Given the description of an element on the screen output the (x, y) to click on. 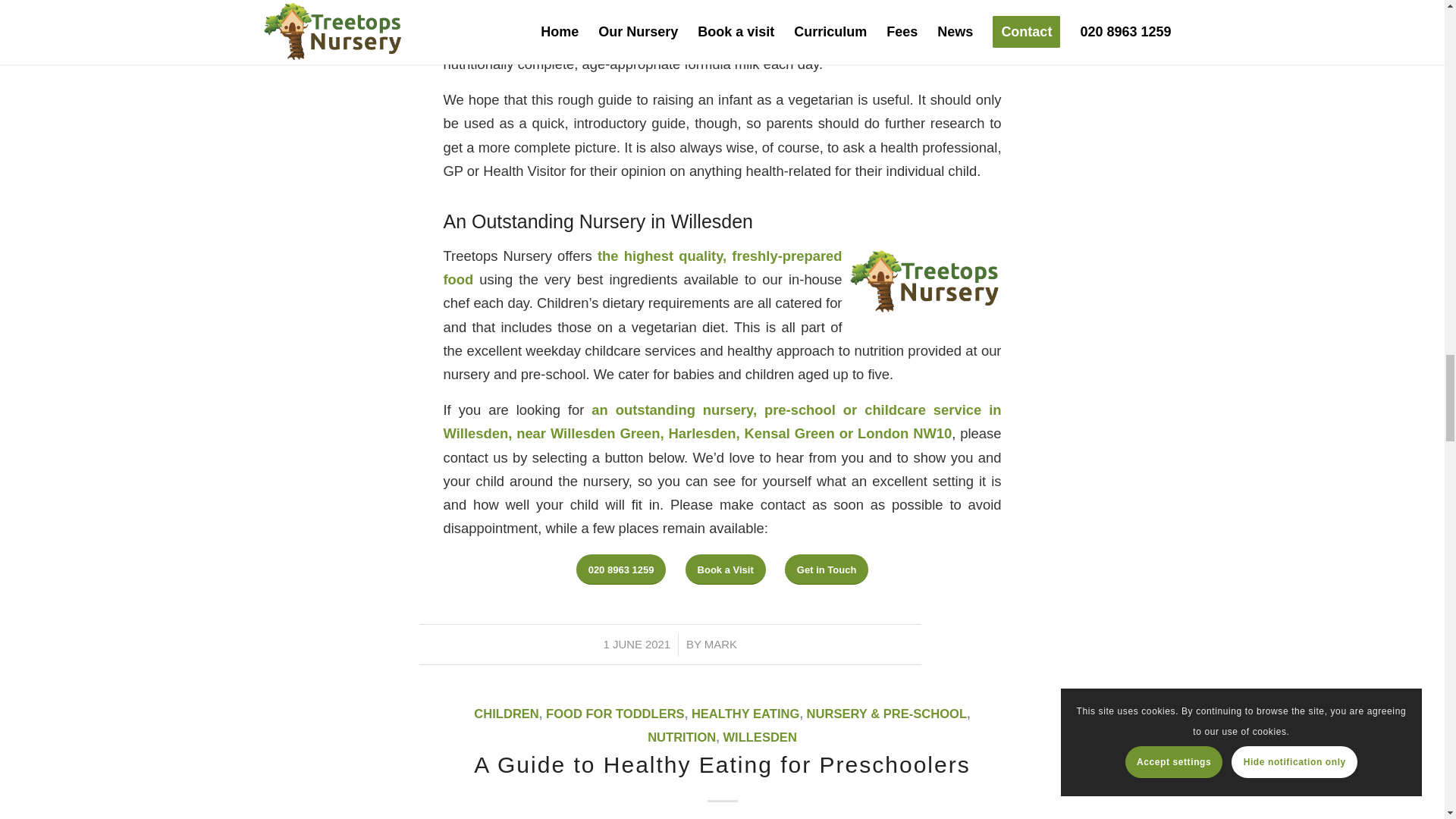
WILLESDEN (759, 737)
HEALTHY EATING (745, 713)
NUTRITION (681, 737)
FOOD FOR TODDLERS (615, 713)
020 8963 1259 (621, 569)
A Guide to Healthy Eating for Preschoolers (721, 764)
Get in Touch (825, 569)
MARK (720, 644)
the highest quality, freshly-prepared food (641, 267)
CHILDREN (506, 713)
Book a Visit (725, 569)
